Given the description of an element on the screen output the (x, y) to click on. 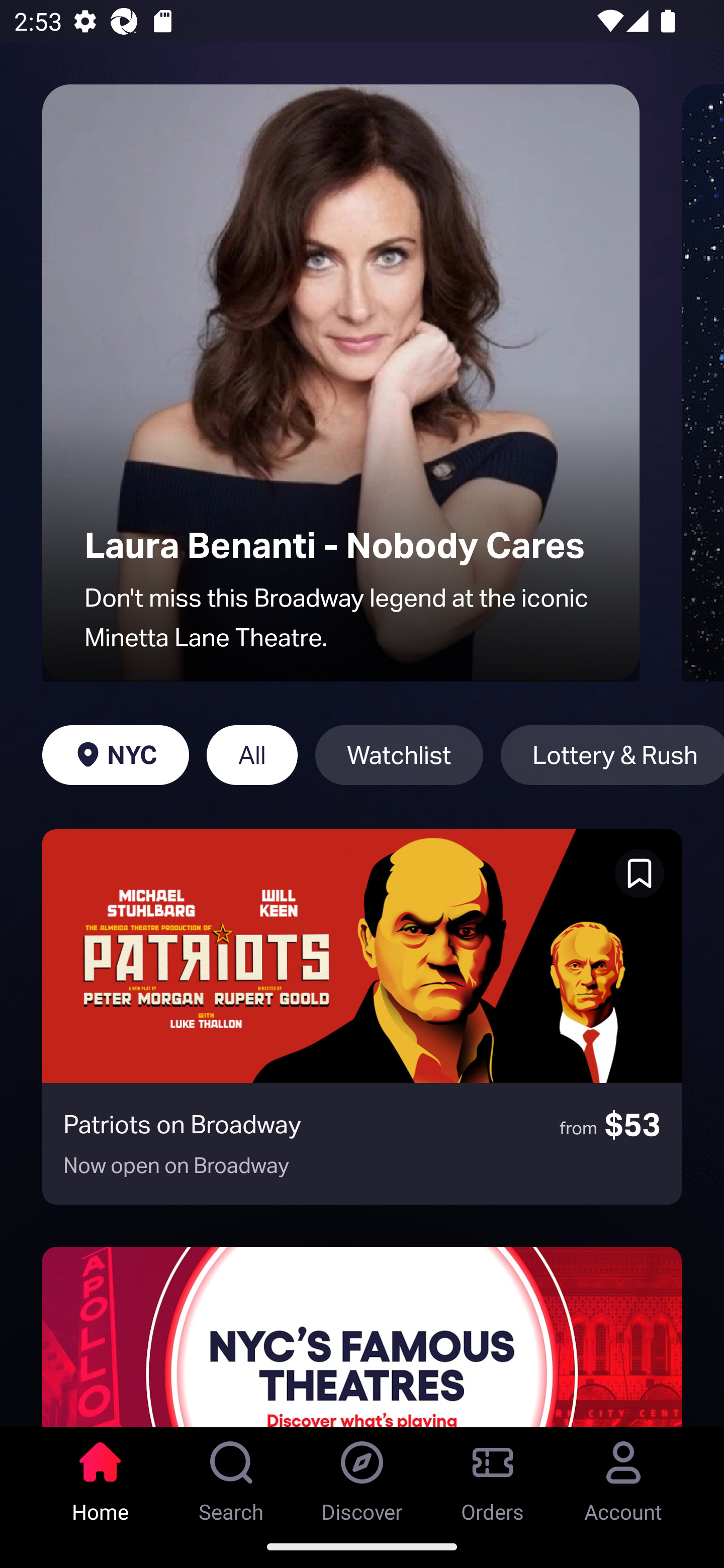
NYC (114, 754)
All (251, 754)
Watchlist (398, 754)
Lottery & Rush (612, 754)
Patriots on Broadway from $53 Now open on Broadway (361, 1016)
Search (230, 1475)
Discover (361, 1475)
Orders (492, 1475)
Account (623, 1475)
